Given the description of an element on the screen output the (x, y) to click on. 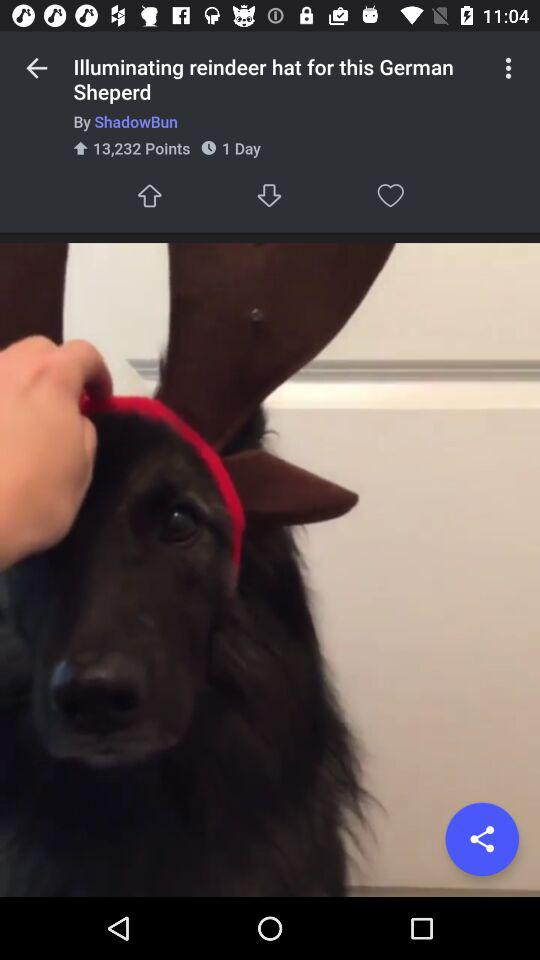
select item next to illuminating reindeer hat (36, 68)
